Given the description of an element on the screen output the (x, y) to click on. 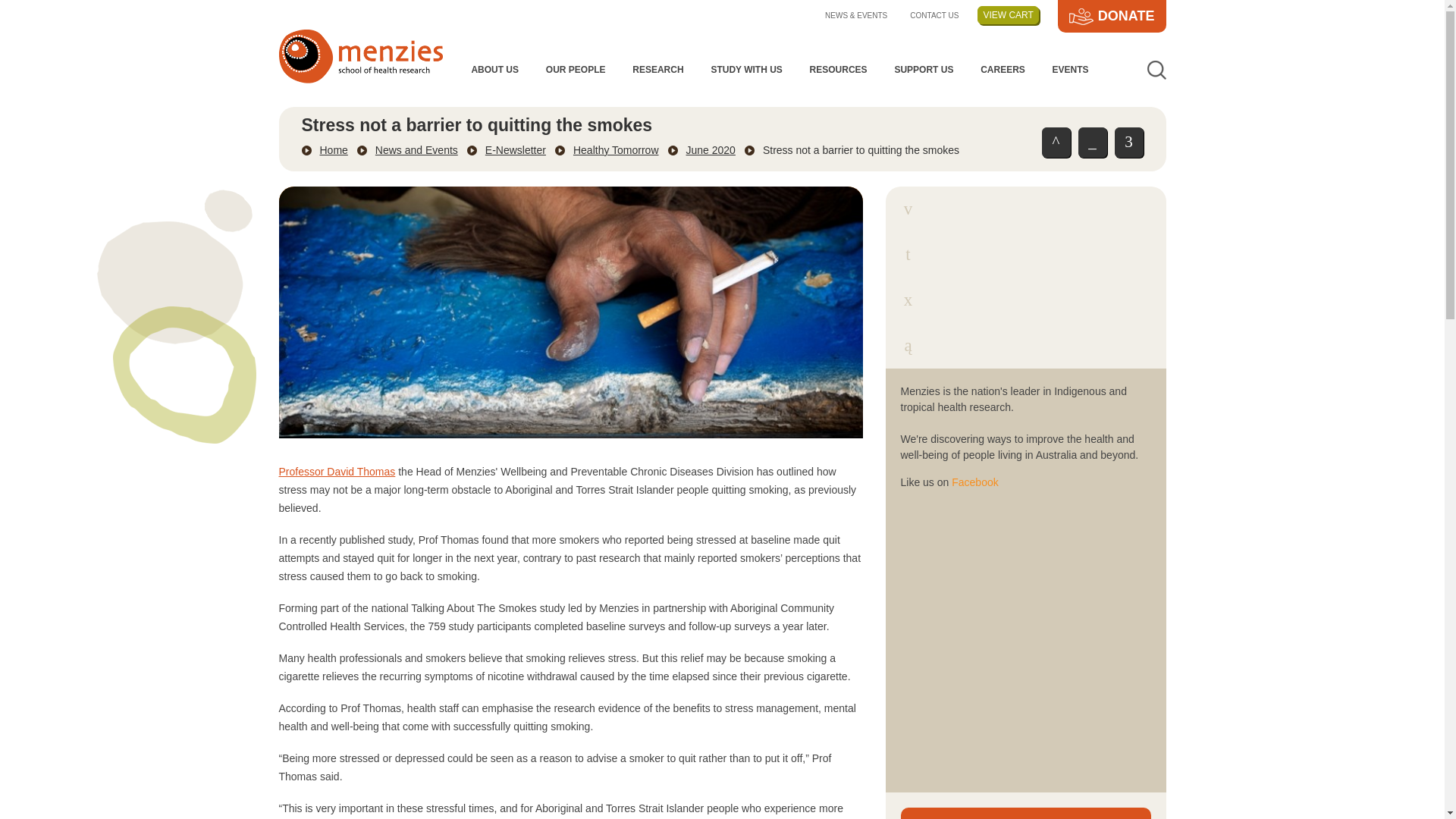
ABOUT US (494, 69)
RESEARCH (657, 69)
SUPPORT US (923, 69)
About us (494, 69)
STUDY WITH US (745, 69)
CAREERS (1002, 69)
RESOURCES (838, 69)
Our people (574, 69)
Research (657, 69)
OUR PEOPLE (574, 69)
